Given the description of an element on the screen output the (x, y) to click on. 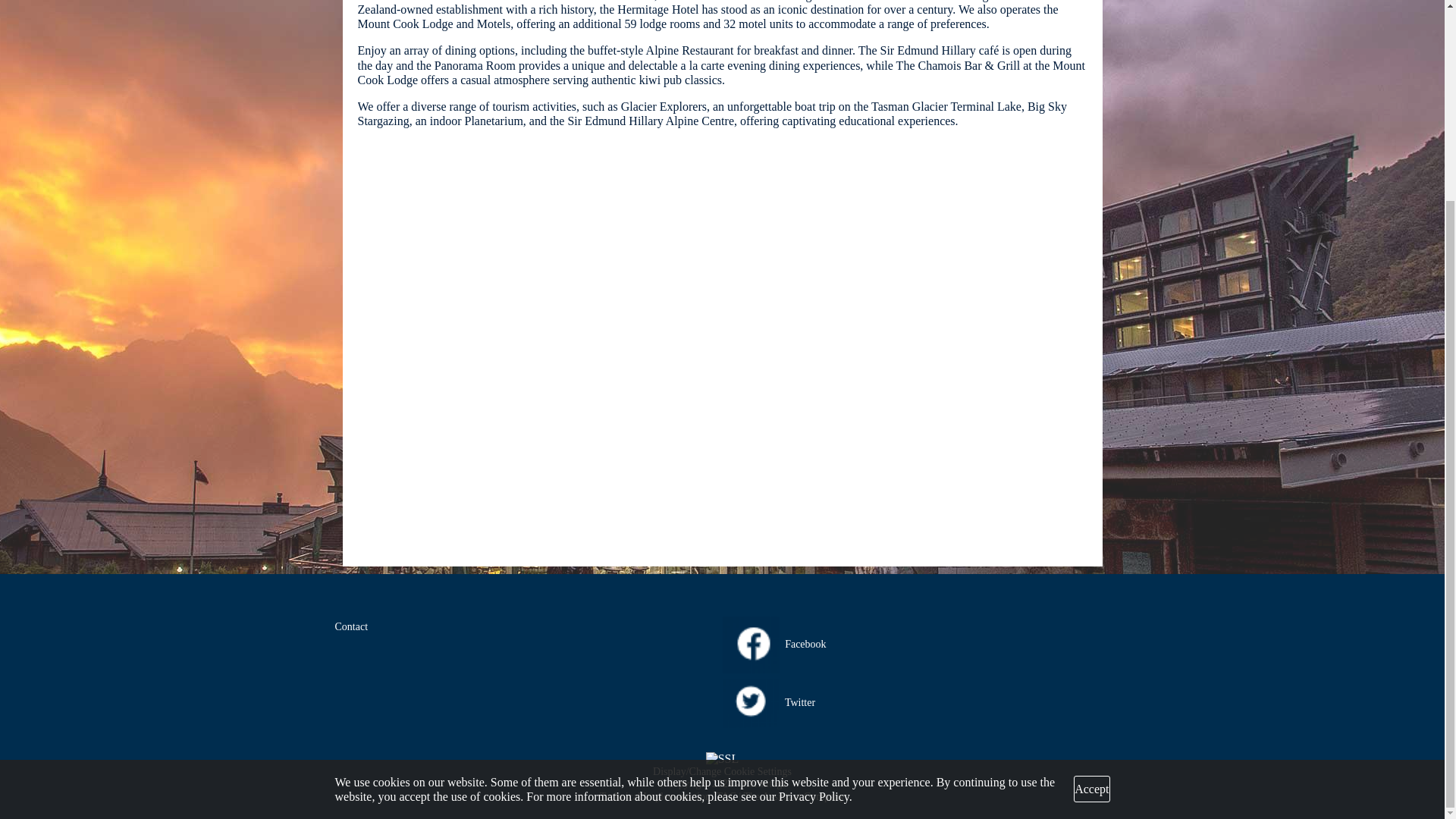
Contact (351, 626)
